Given the description of an element on the screen output the (x, y) to click on. 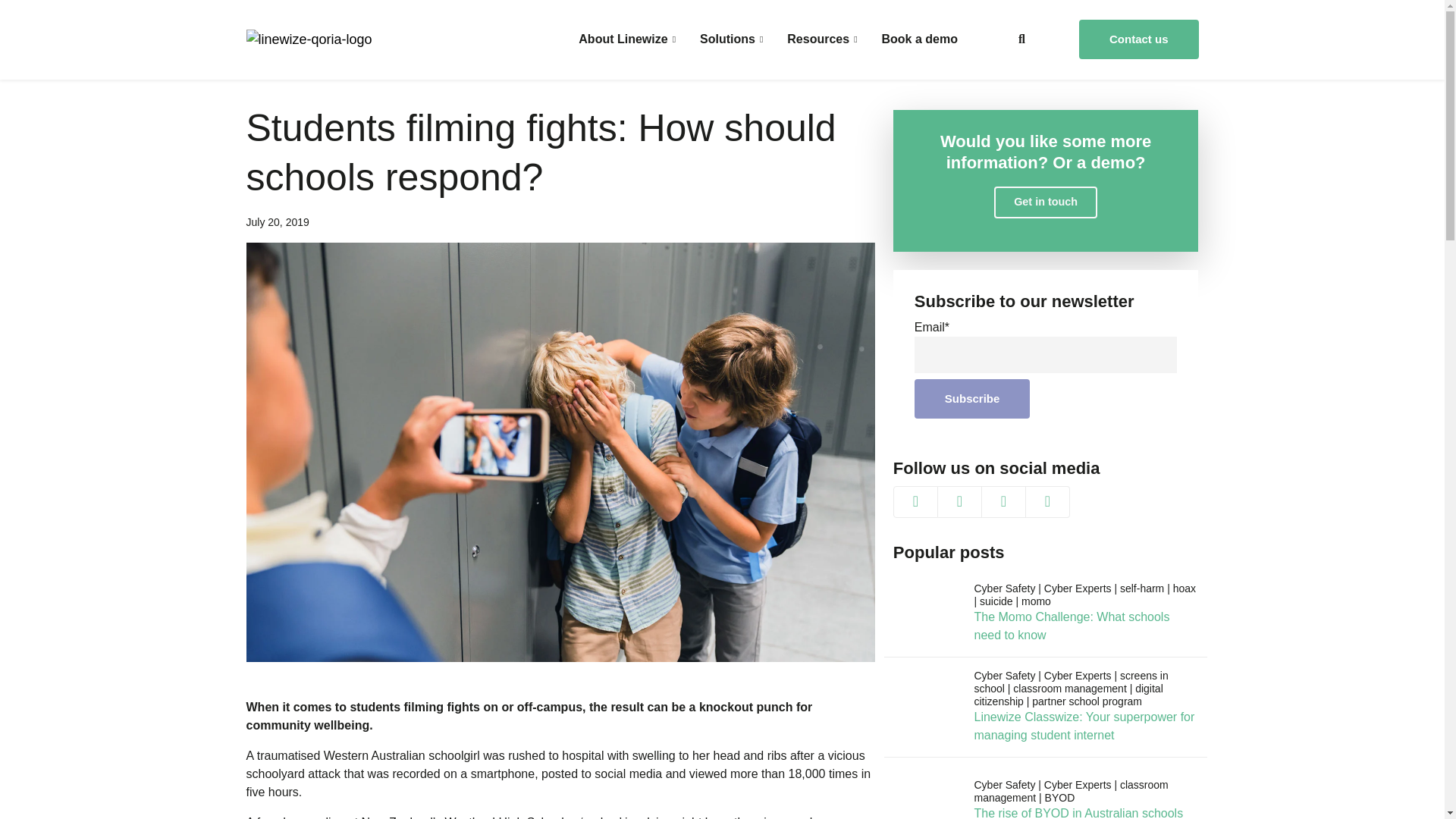
Solutions (731, 39)
Get in touch (1045, 202)
Subscribe (972, 398)
Book a demo (920, 39)
Contact us (1138, 38)
Subscribe (972, 398)
About Linewize (626, 39)
Resources (822, 39)
